Given the description of an element on the screen output the (x, y) to click on. 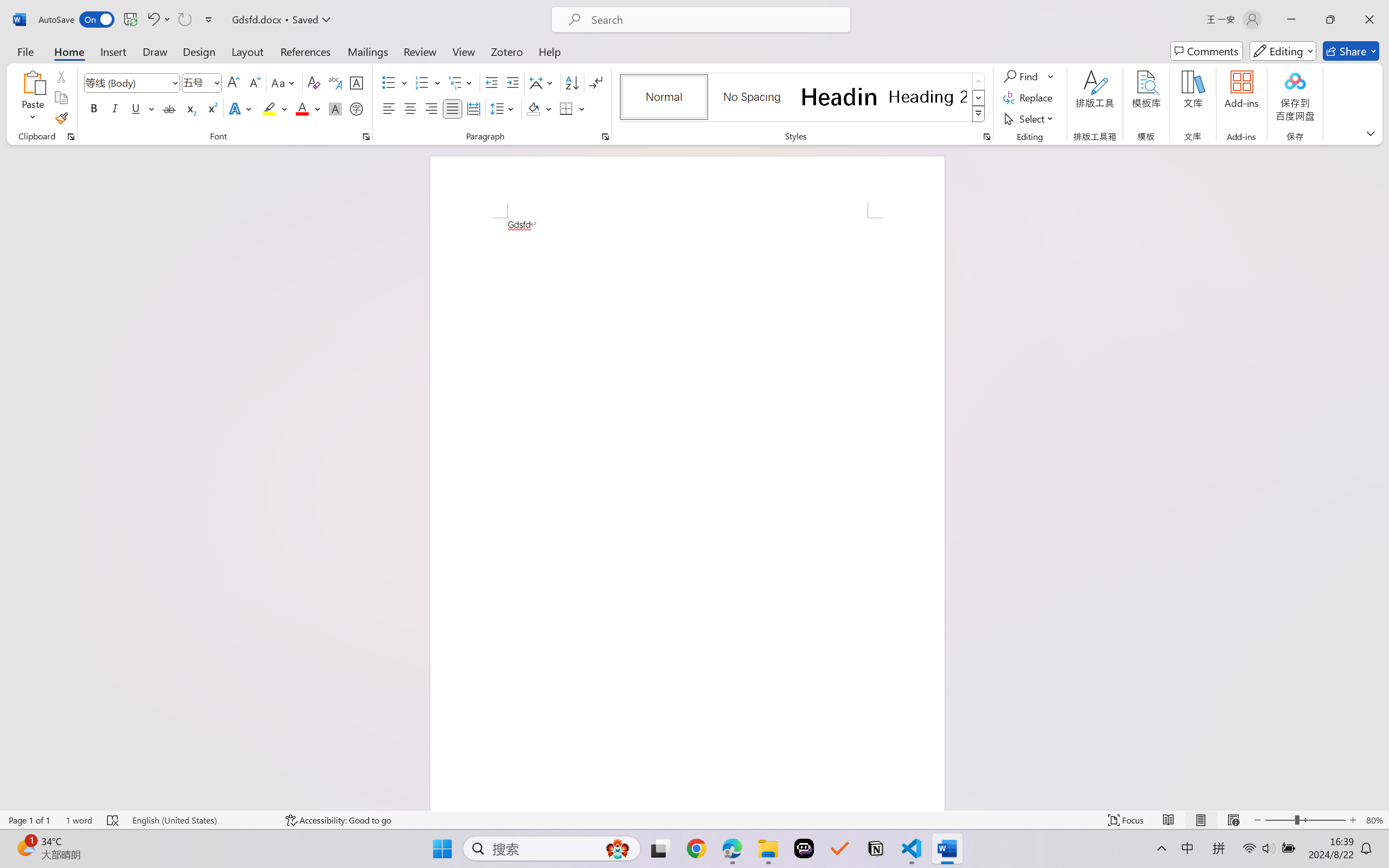
Class: MsoCommandBar (694, 819)
Microsoft search (715, 19)
Zoom 80% (1374, 819)
